Given the description of an element on the screen output the (x, y) to click on. 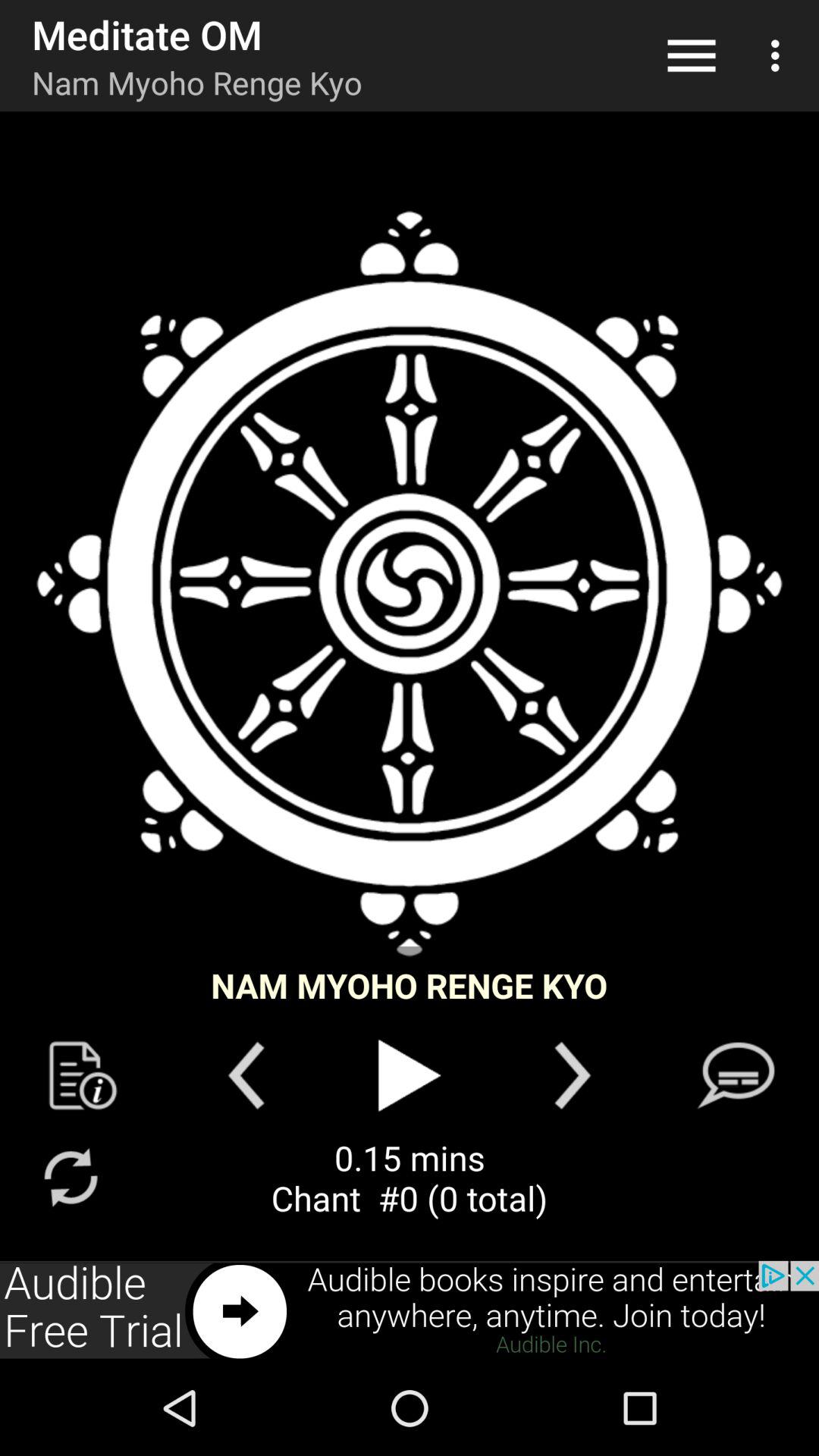
rotate button (69, 1177)
